Given the description of an element on the screen output the (x, y) to click on. 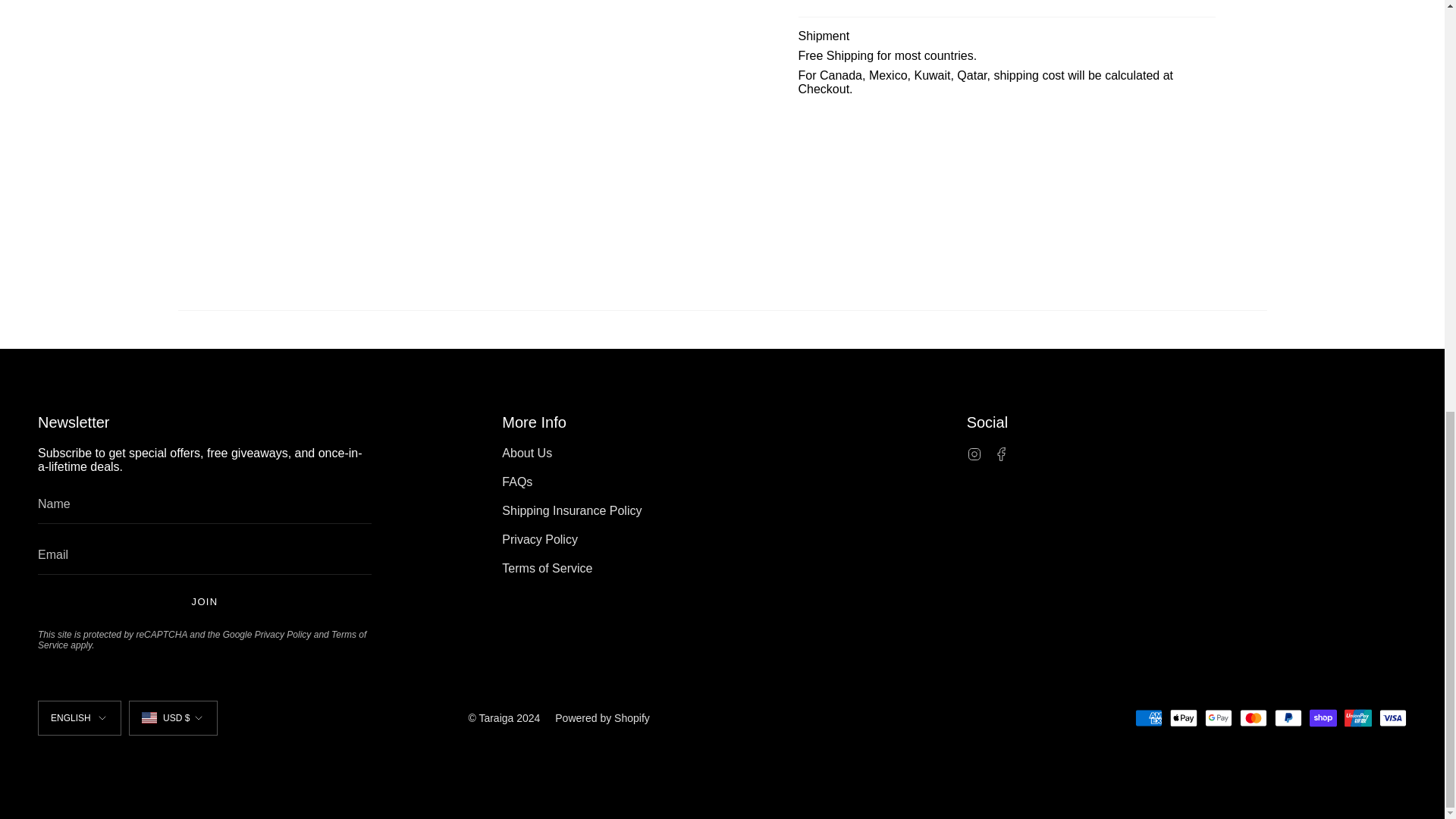
Taraiga on Instagram (973, 452)
Taraiga on Facebook (1001, 452)
